Given the description of an element on the screen output the (x, y) to click on. 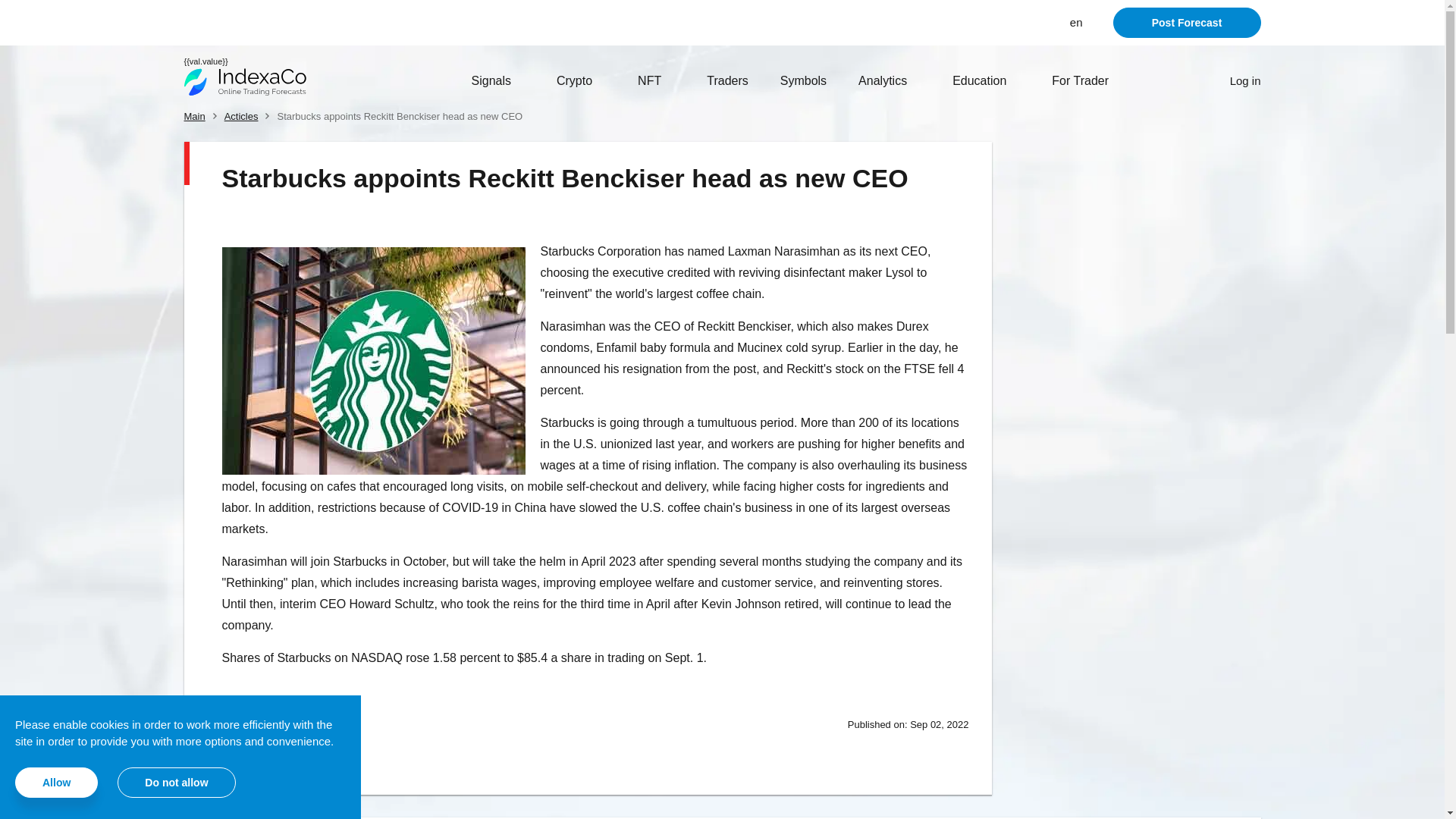
Traders (727, 81)
Signals (497, 81)
Symbols (803, 81)
Crypto (580, 81)
NFT (656, 81)
Starbucks (372, 361)
Analytics (889, 81)
Post Forecast (1186, 22)
